Given the description of an element on the screen output the (x, y) to click on. 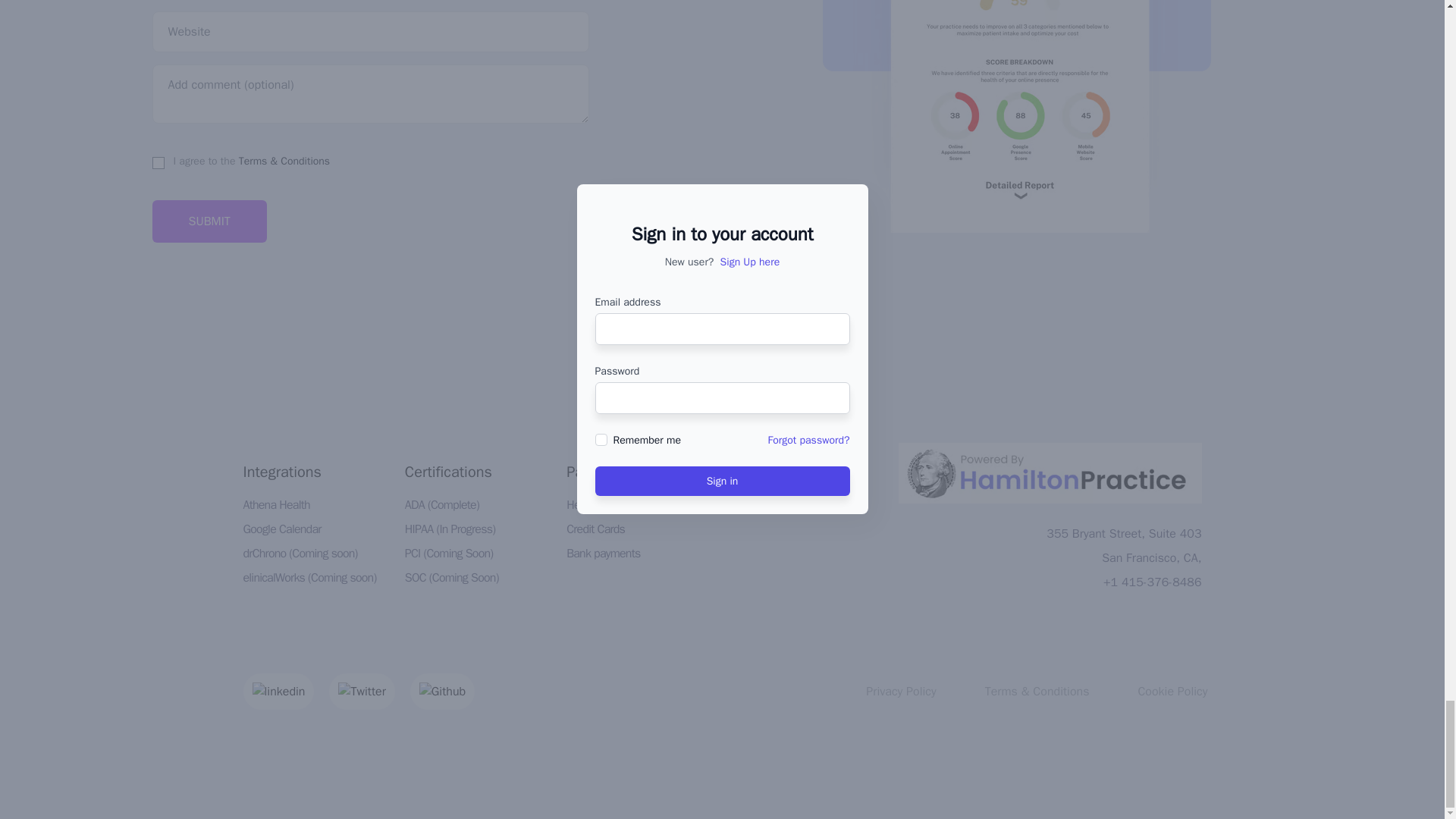
Cookie Policy (1172, 691)
Health Insurance (606, 504)
Bank payments (603, 553)
true (157, 162)
Privacy Policy (901, 691)
Credit Cards (595, 529)
SUBMIT (208, 220)
